Given the description of an element on the screen output the (x, y) to click on. 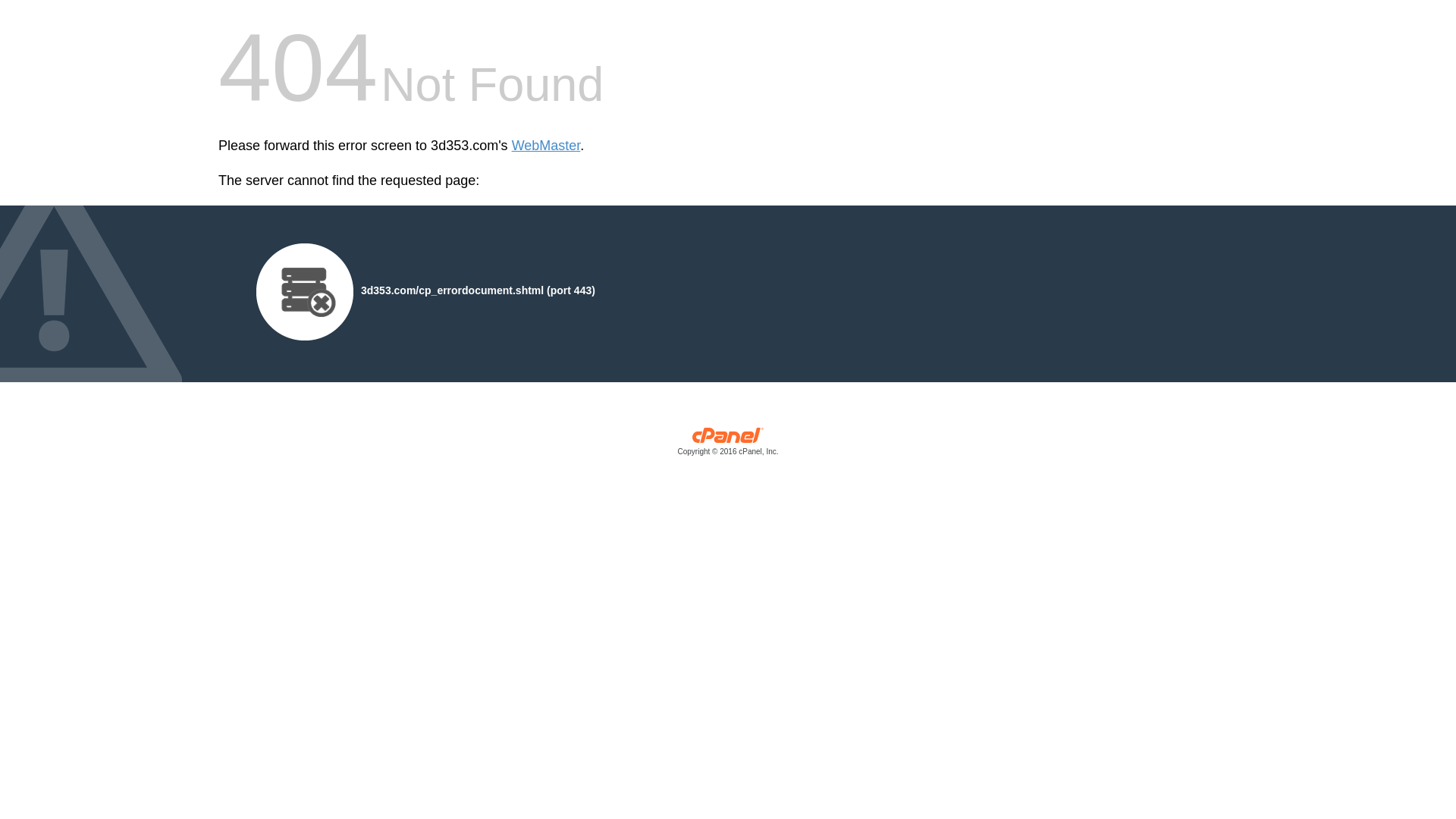
WebMaster Element type: text (545, 145)
